Given the description of an element on the screen output the (x, y) to click on. 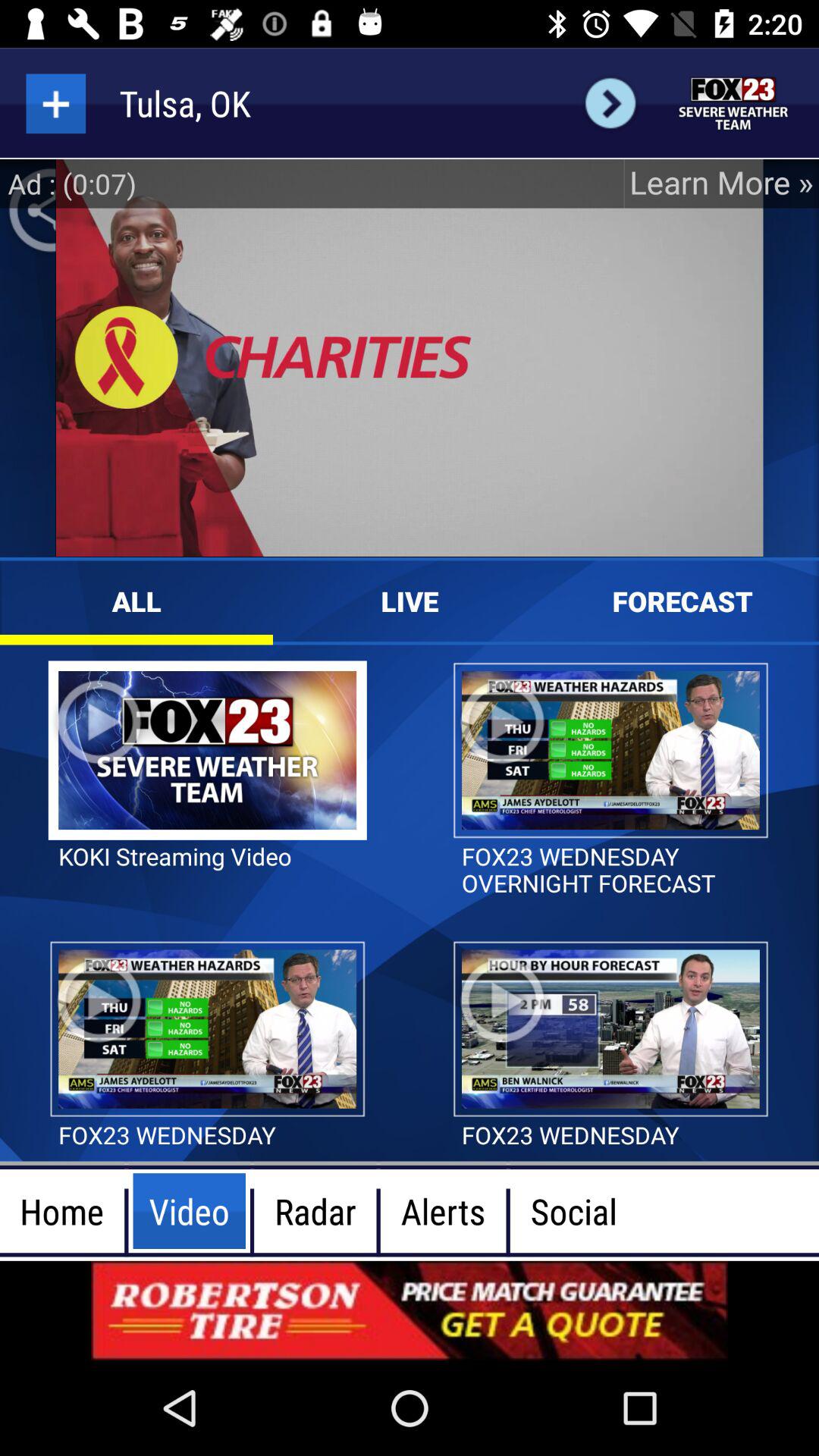
open an advertisement (409, 1310)
